Given the description of an element on the screen output the (x, y) to click on. 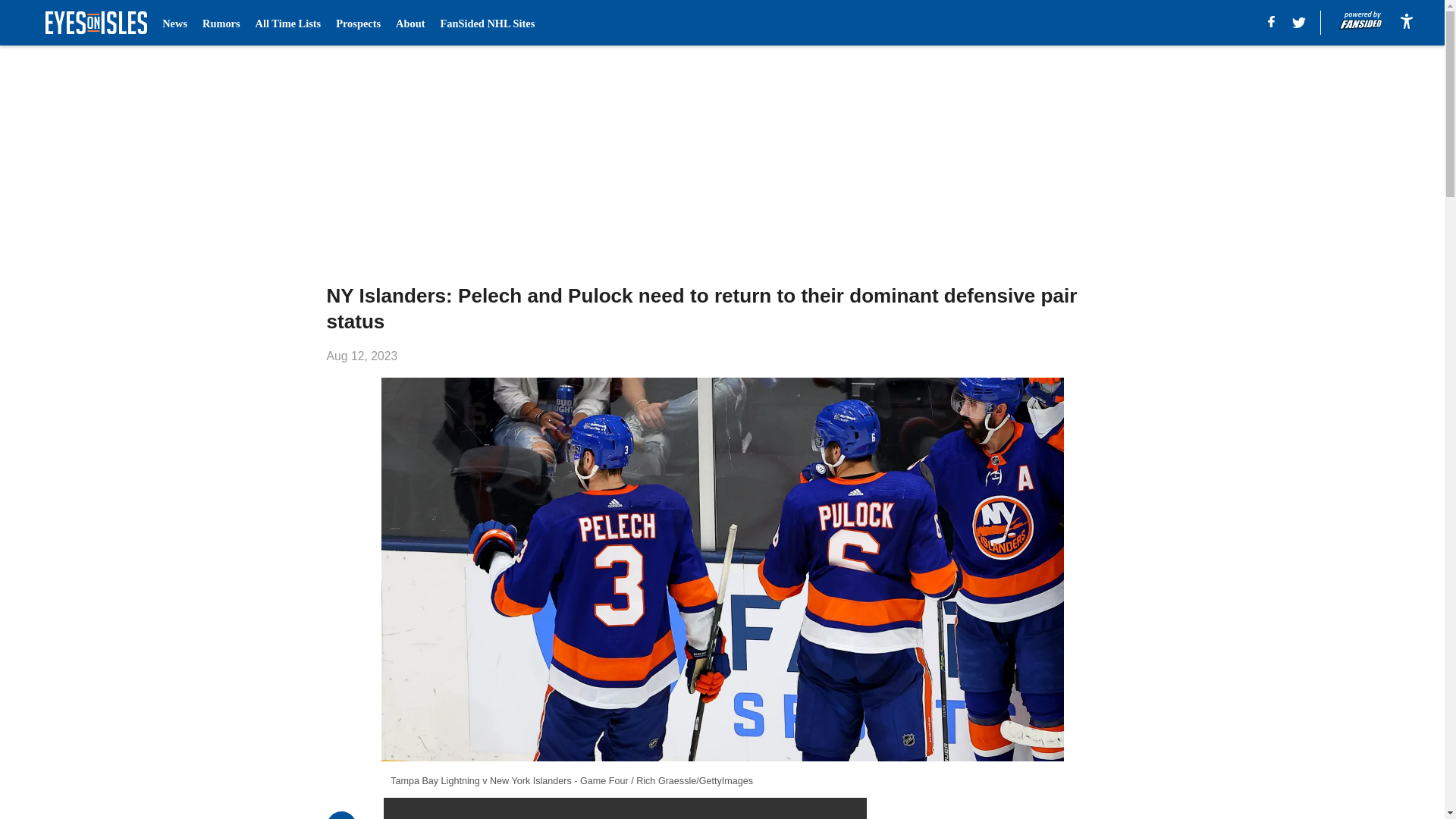
Prospects (358, 23)
About (410, 23)
3rd party ad content (1005, 808)
News (174, 23)
Rumors (221, 23)
All Time Lists (288, 23)
FanSided NHL Sites (486, 23)
